Given the description of an element on the screen output the (x, y) to click on. 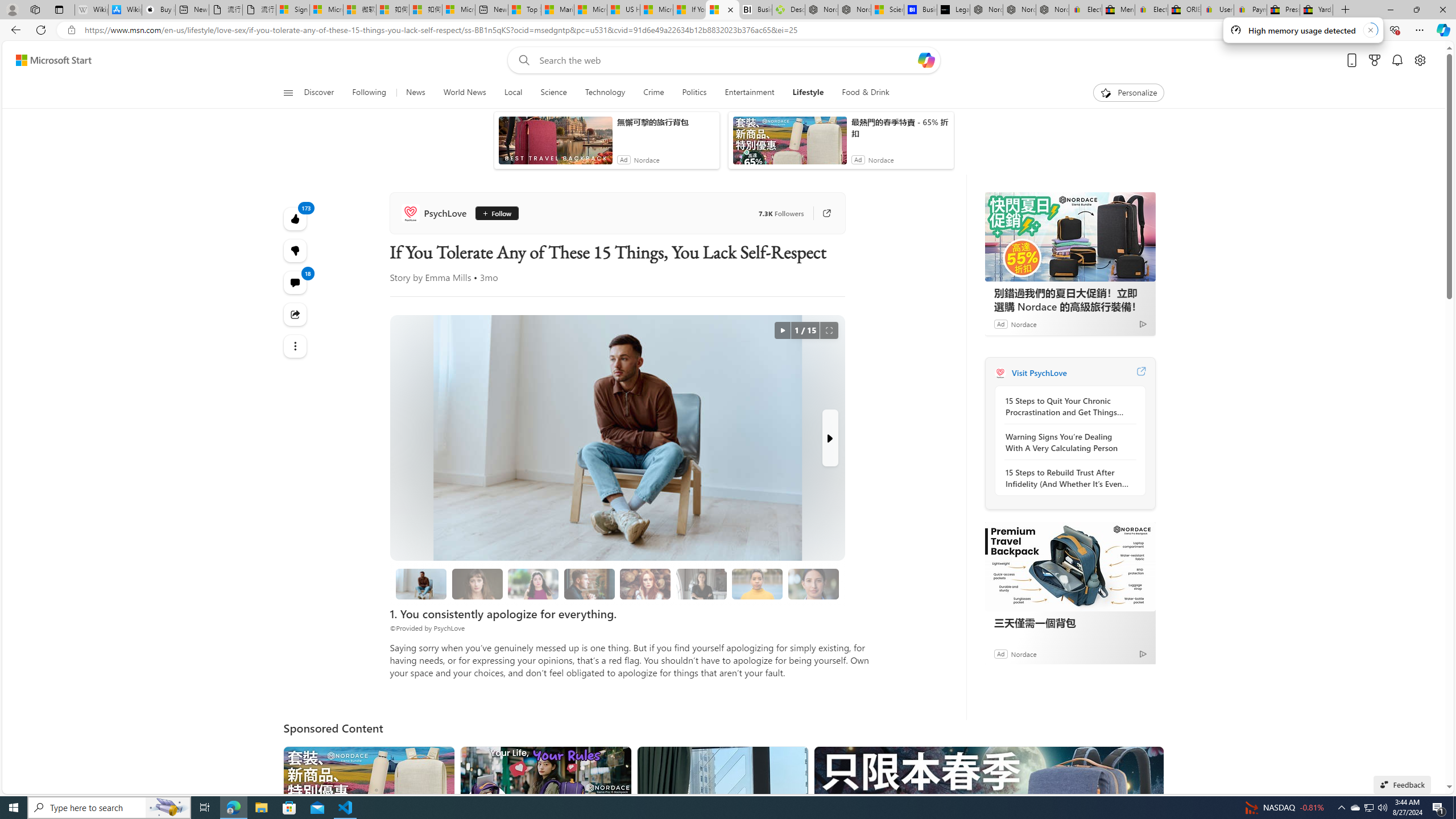
173 Like (295, 218)
Skip to footer (46, 59)
Food & Drink (865, 92)
173 (295, 250)
Science (553, 92)
Go to publisher's site (820, 213)
Full screen (828, 330)
Politics (694, 92)
